Given the description of an element on the screen output the (x, y) to click on. 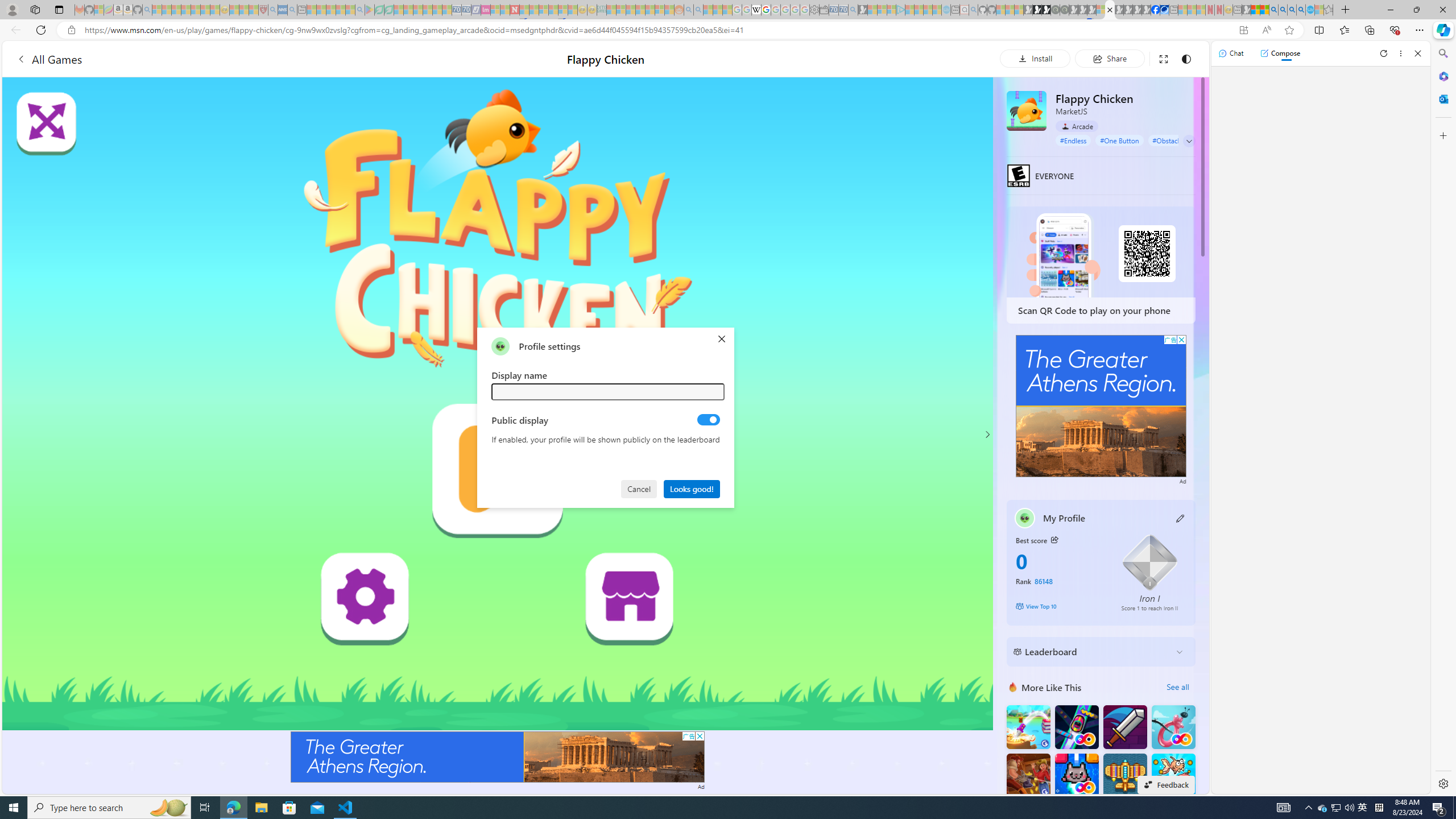
Class: control (1188, 140)
Knife Flip (1028, 726)
#Endless (1073, 140)
